Given the description of an element on the screen output the (x, y) to click on. 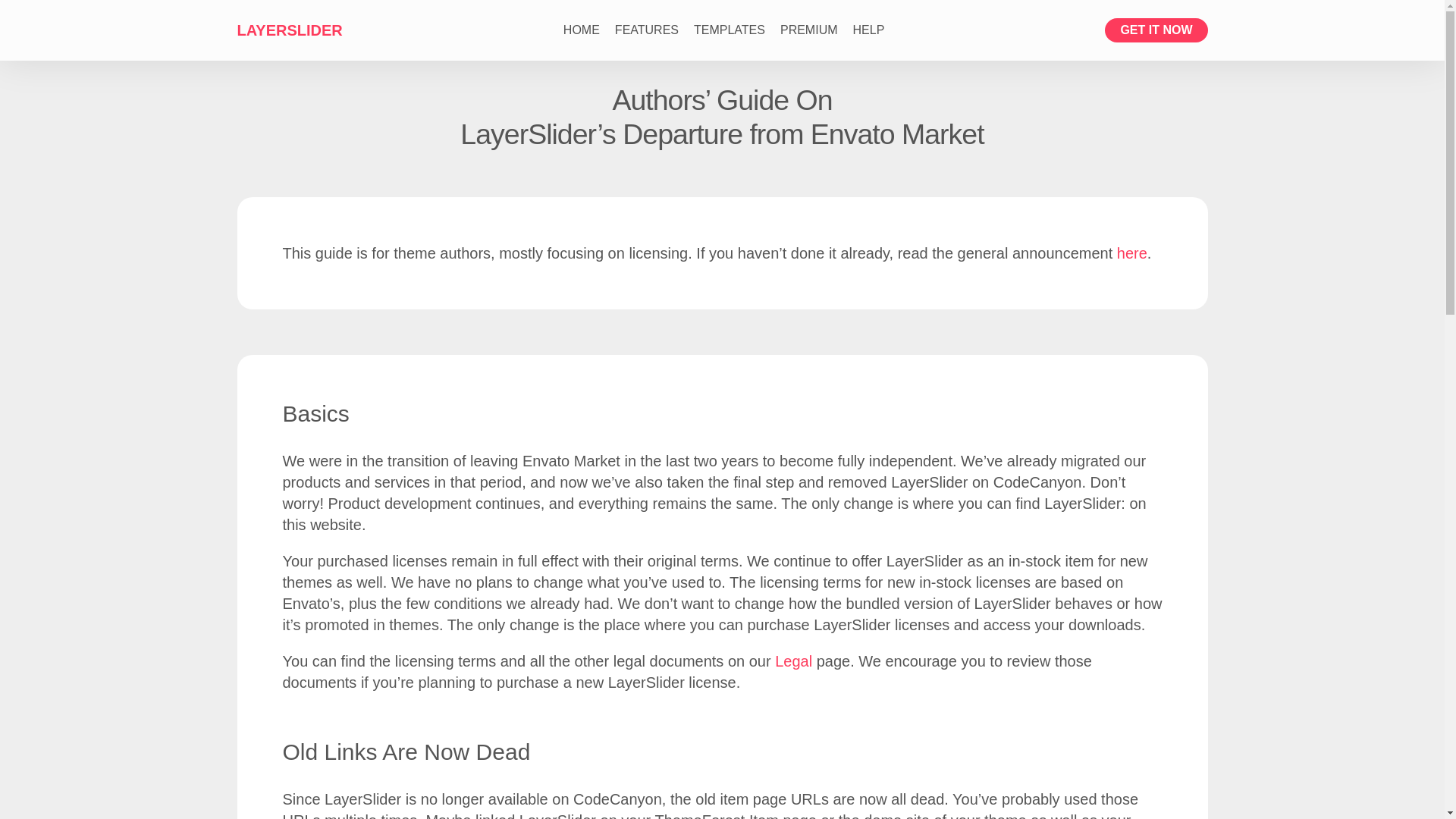
here (1131, 252)
GET IT NOW (1156, 30)
HOME (581, 30)
HELP (868, 30)
TEMPLATES (729, 30)
LAYERSLIDER (288, 30)
PREMIUM (809, 30)
Legal (793, 660)
FEATURES (646, 30)
